Given the description of an element on the screen output the (x, y) to click on. 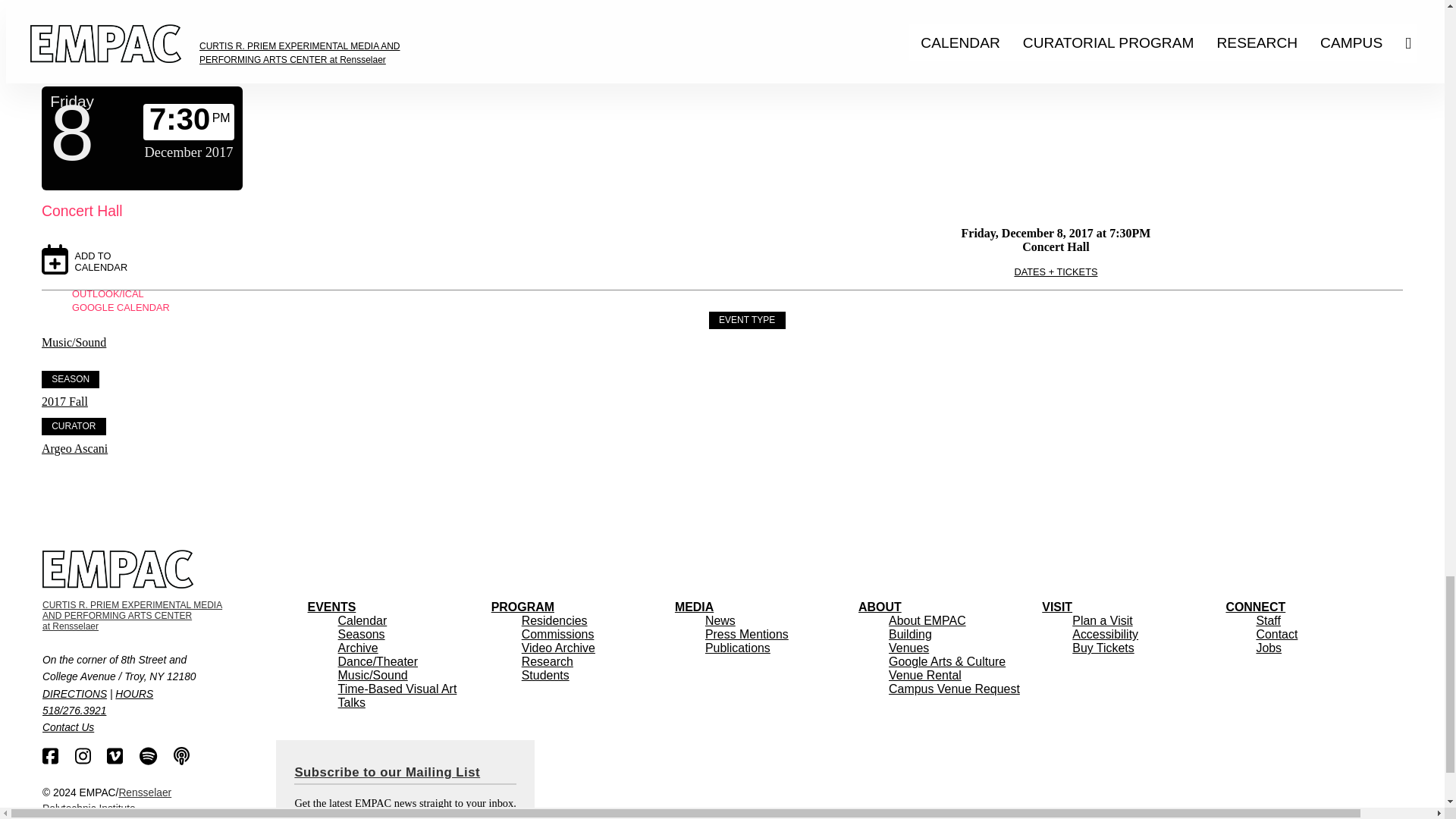
Press Mentions (745, 633)
Contact Us (68, 727)
Music and Sound events (372, 674)
Talks and Lectures (351, 701)
EMPAC In Production on Spotify (148, 755)
About EMPAC (928, 619)
Student Opportunities at EMPAC (544, 674)
Time-Based Visual Art Events (397, 687)
Concert Hall (82, 210)
2017 Fall (64, 400)
Video Archive (557, 646)
Argeo Ascani (74, 448)
EMPAC NEWS (719, 619)
DIRECTIONS (74, 694)
